Given the description of an element on the screen output the (x, y) to click on. 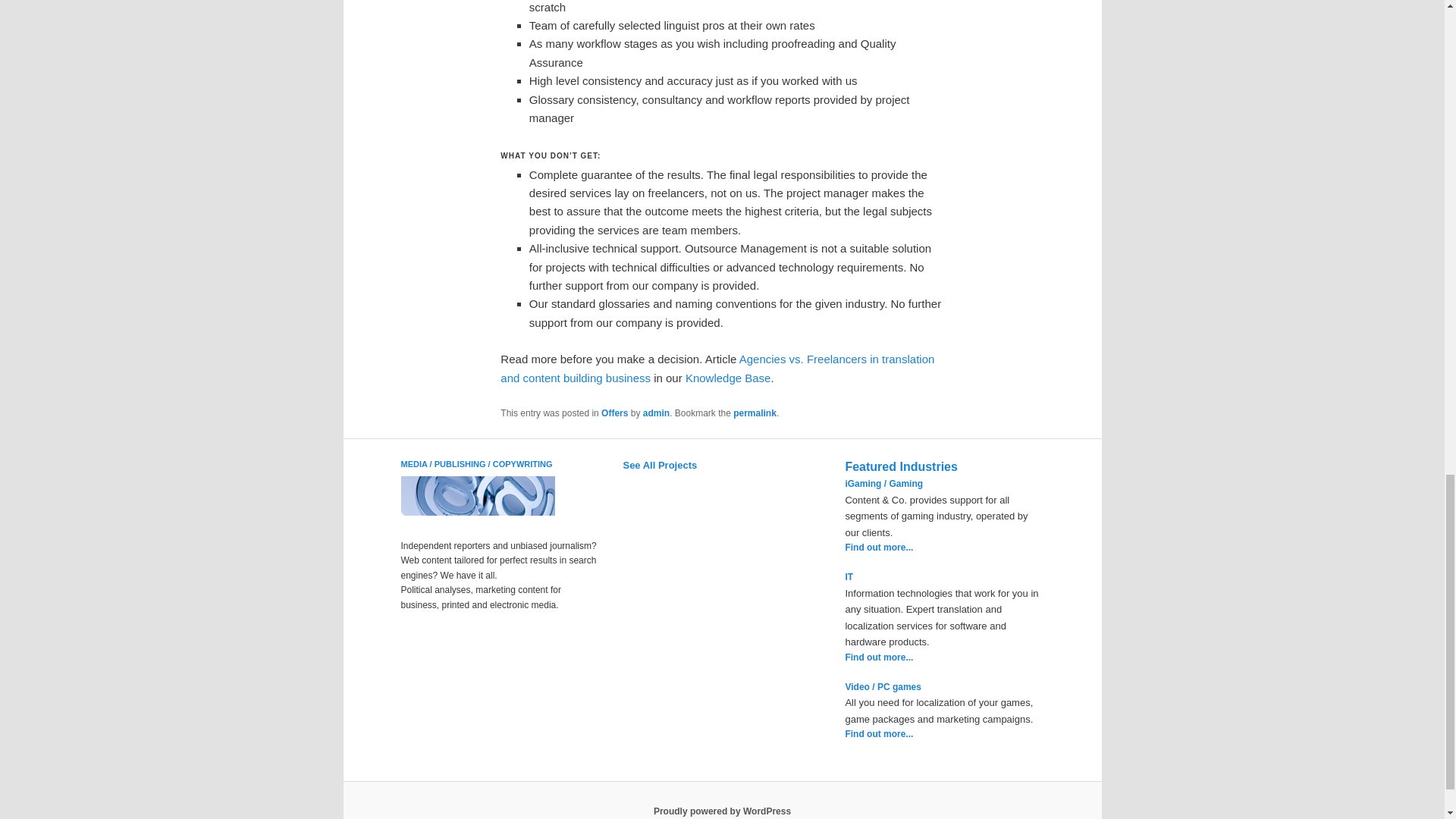
See All Projects (660, 464)
Copywriting Services (477, 516)
Featured Industries (900, 466)
Knowledge Base (728, 377)
Proudly powered by WordPress (721, 810)
Find out more... (878, 733)
Featured Industries (900, 466)
games localization (882, 686)
admin (656, 412)
Offers (614, 412)
